Given the description of an element on the screen output the (x, y) to click on. 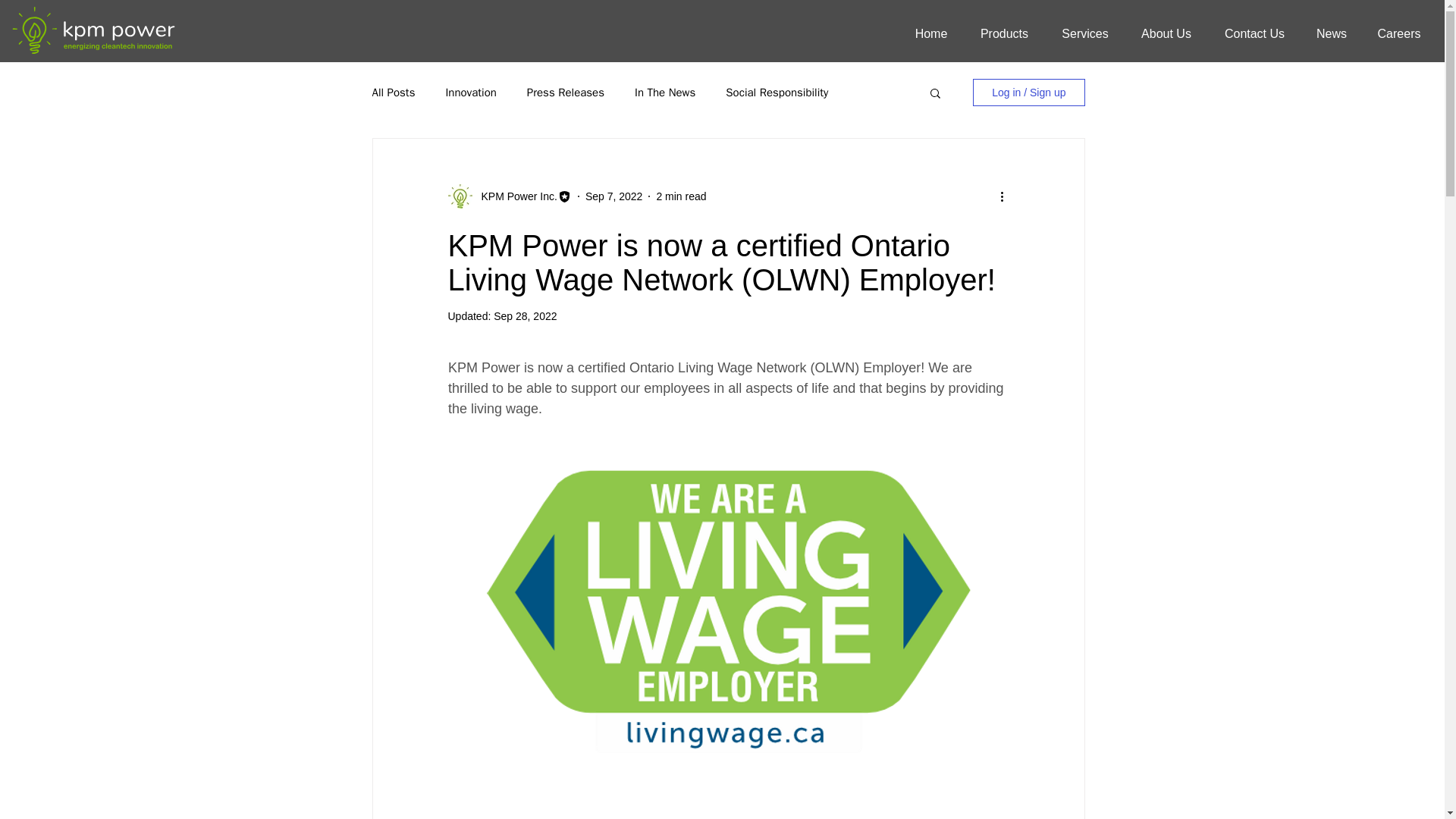
News (1331, 34)
Sep 7, 2022 (614, 195)
KPM Power Inc. (513, 195)
In The News (664, 92)
All Posts (392, 92)
Products (1003, 34)
2 min read (681, 195)
About Us (1166, 34)
Services (1084, 34)
Press Releases (565, 92)
